Given the description of an element on the screen output the (x, y) to click on. 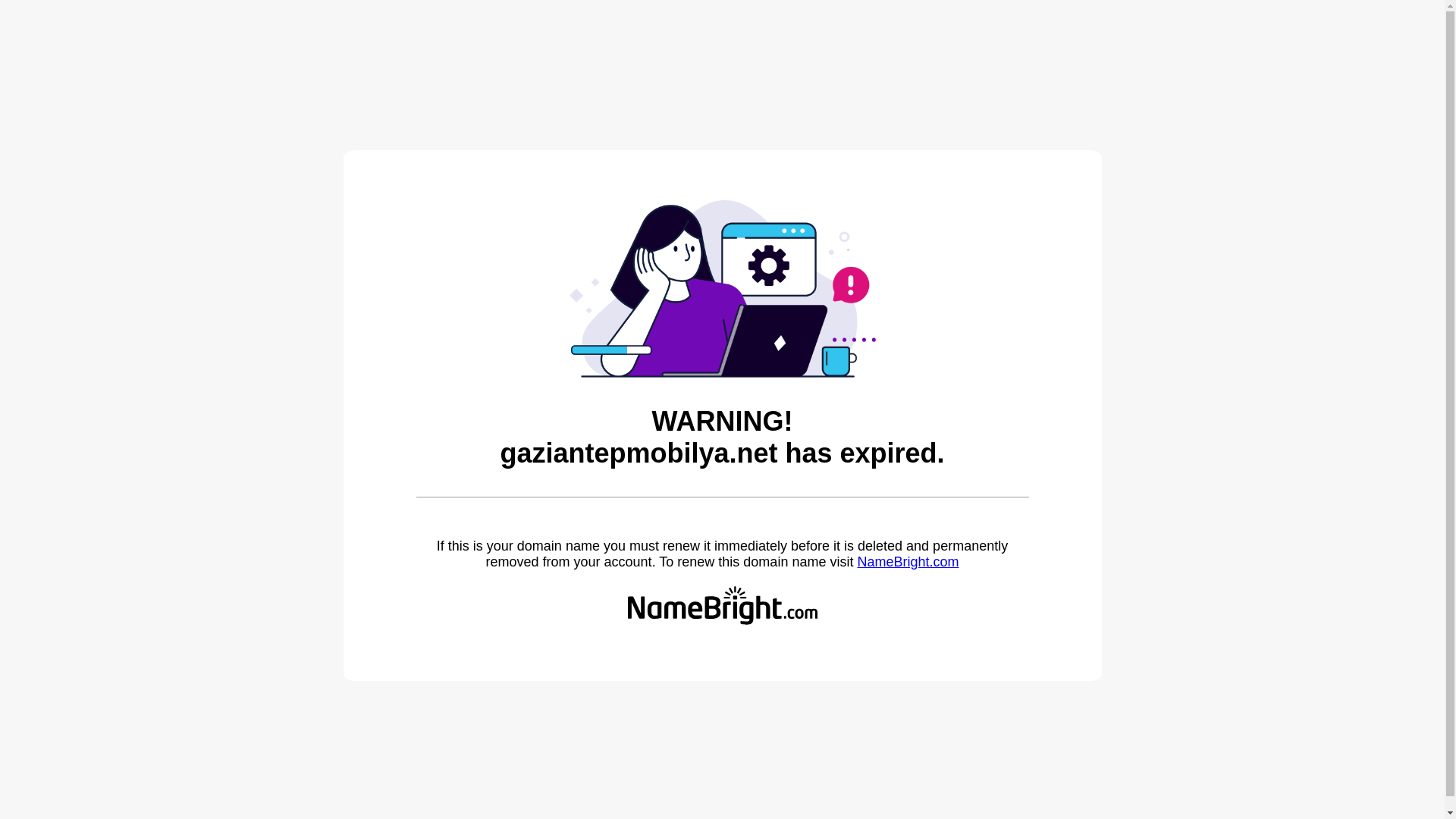
NameBright.com (907, 561)
